Given the description of an element on the screen output the (x, y) to click on. 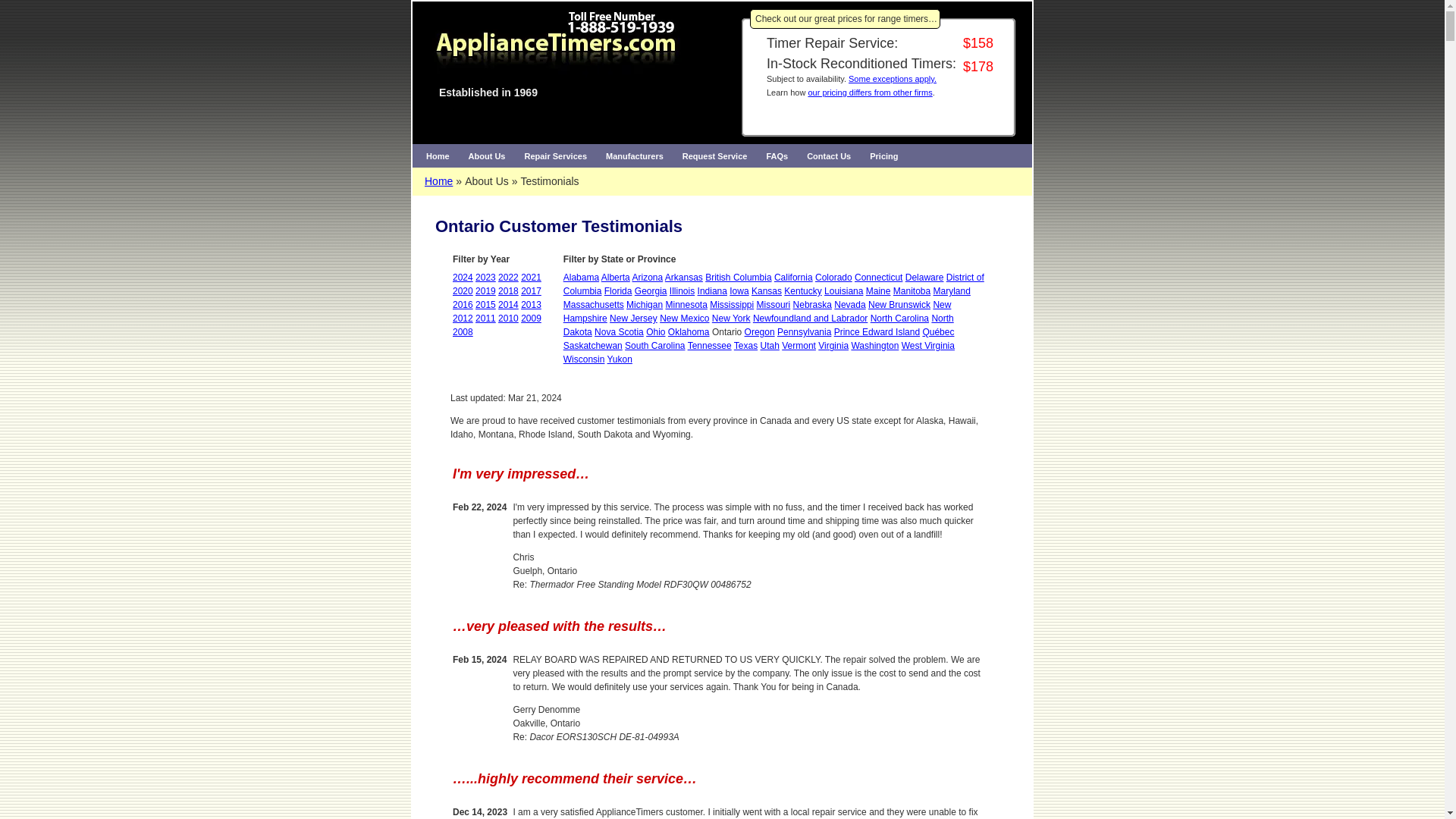
Contact Us (828, 156)
Manufacturers (634, 156)
2020 (462, 290)
About Us (487, 156)
2017 (531, 290)
Request Service (714, 156)
Home (438, 181)
Return to the ApplianceTimers.com Home page (437, 156)
2013 (531, 304)
our pricing differs from other firms (869, 92)
